Given the description of an element on the screen output the (x, y) to click on. 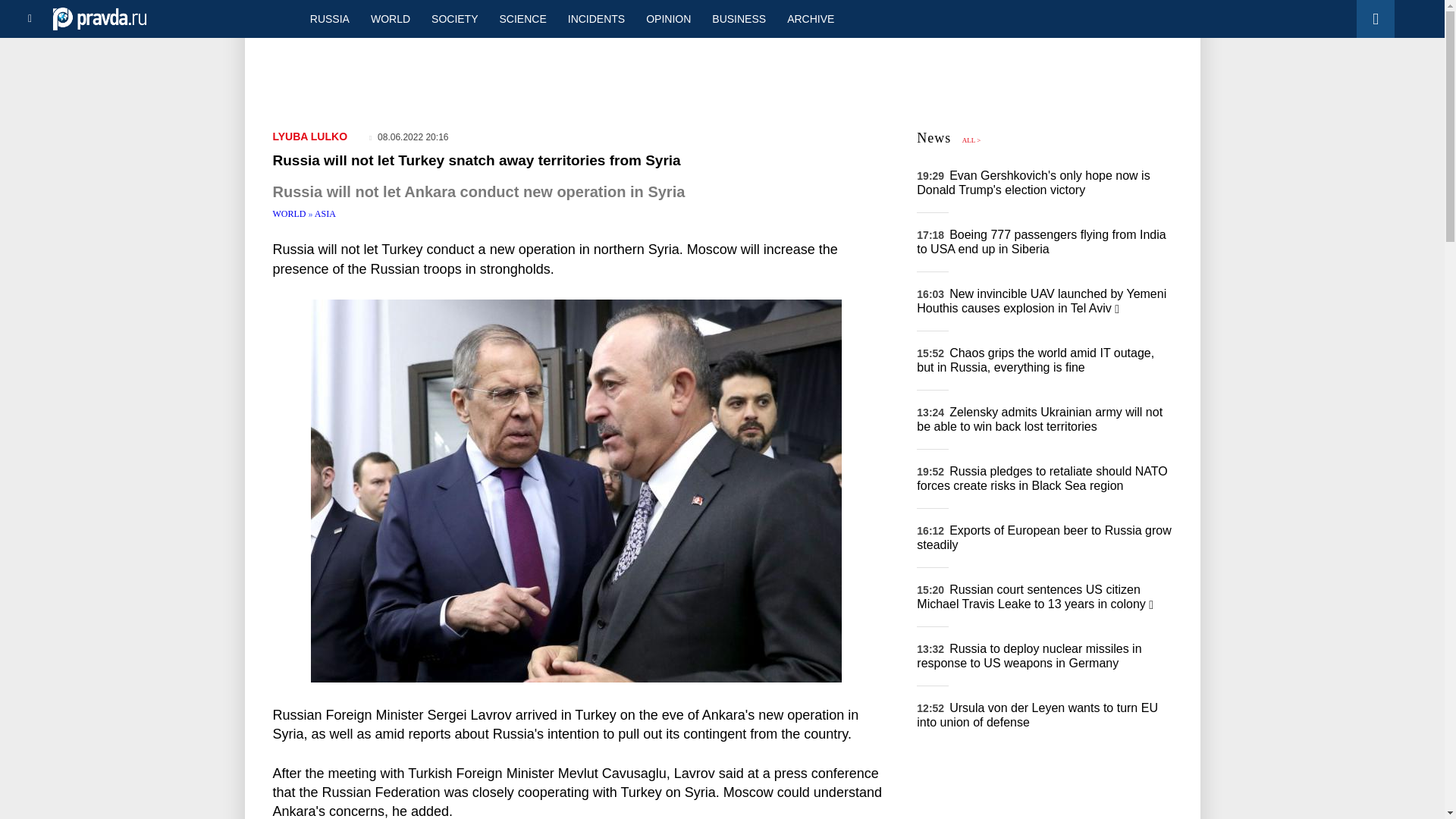
SCIENCE (523, 18)
OPINION (667, 18)
ASIA (325, 213)
Published (408, 136)
BUSINESS (738, 18)
ARCHIVE (810, 18)
WORLD (290, 213)
News (933, 137)
RUSSIA (329, 18)
